Given the description of an element on the screen output the (x, y) to click on. 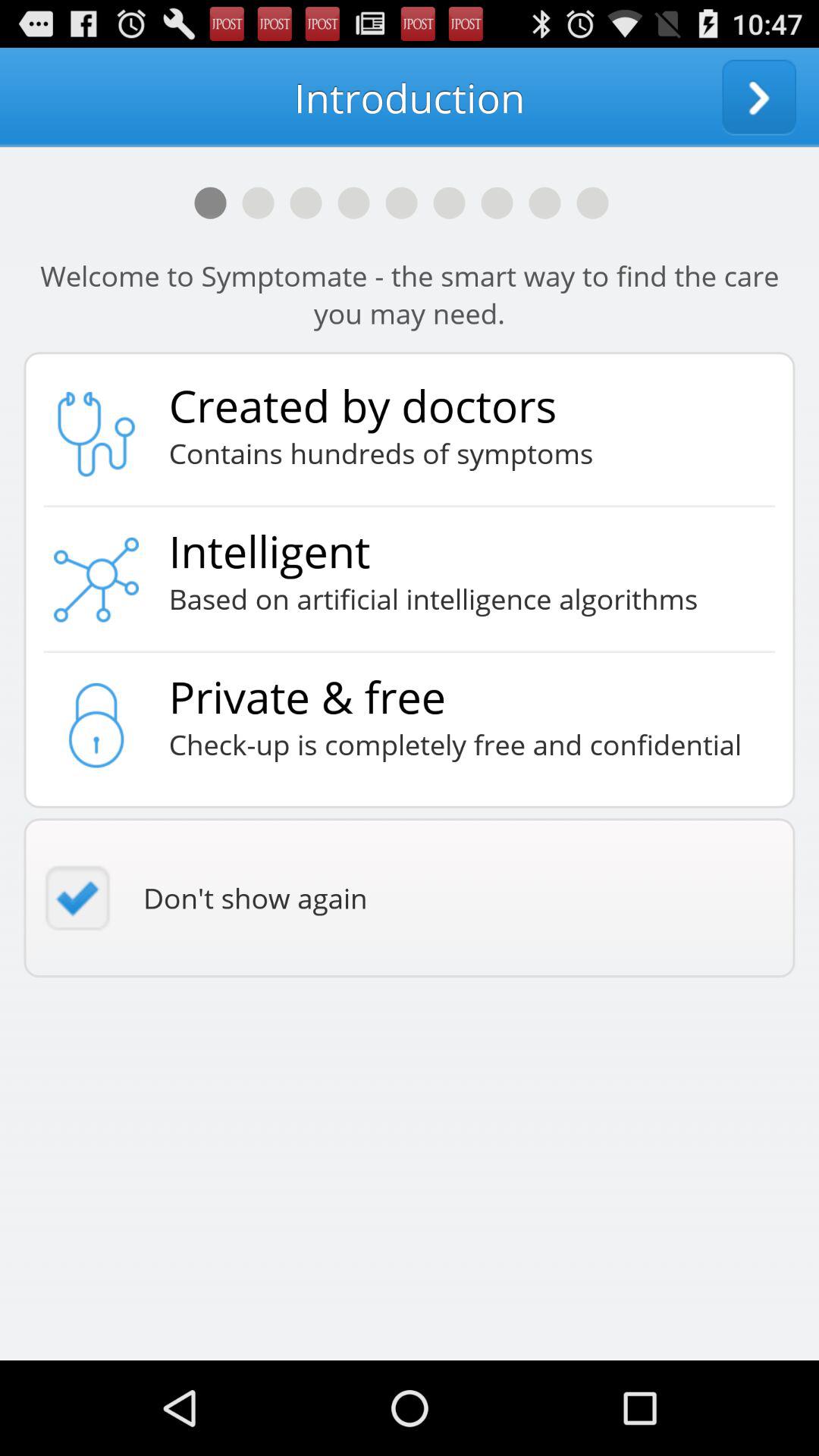
select icon at the top right corner (759, 97)
